Given the description of an element on the screen output the (x, y) to click on. 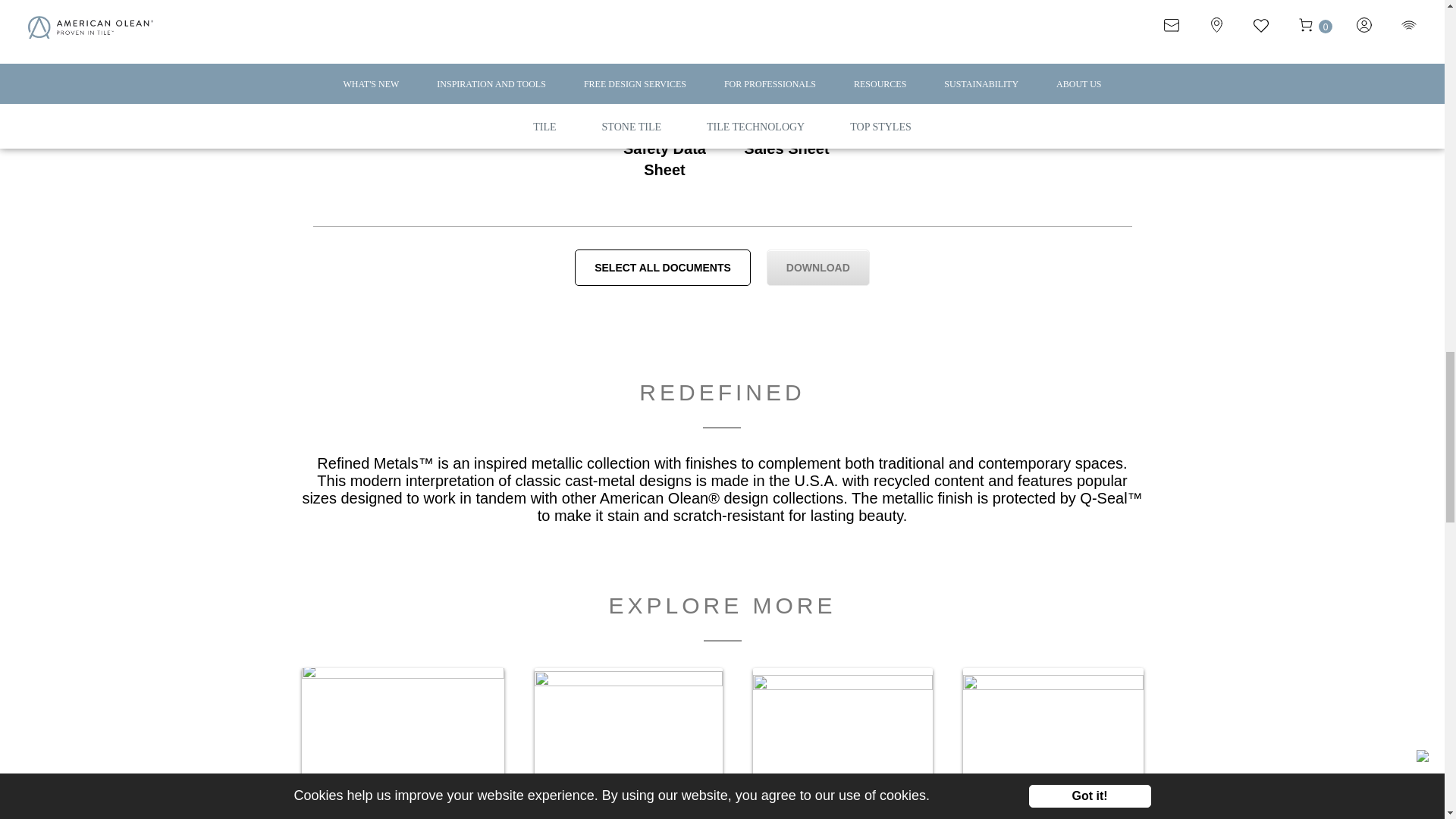
true (786, 115)
Select All Documents (663, 267)
true (663, 115)
Download (818, 267)
